Given the description of an element on the screen output the (x, y) to click on. 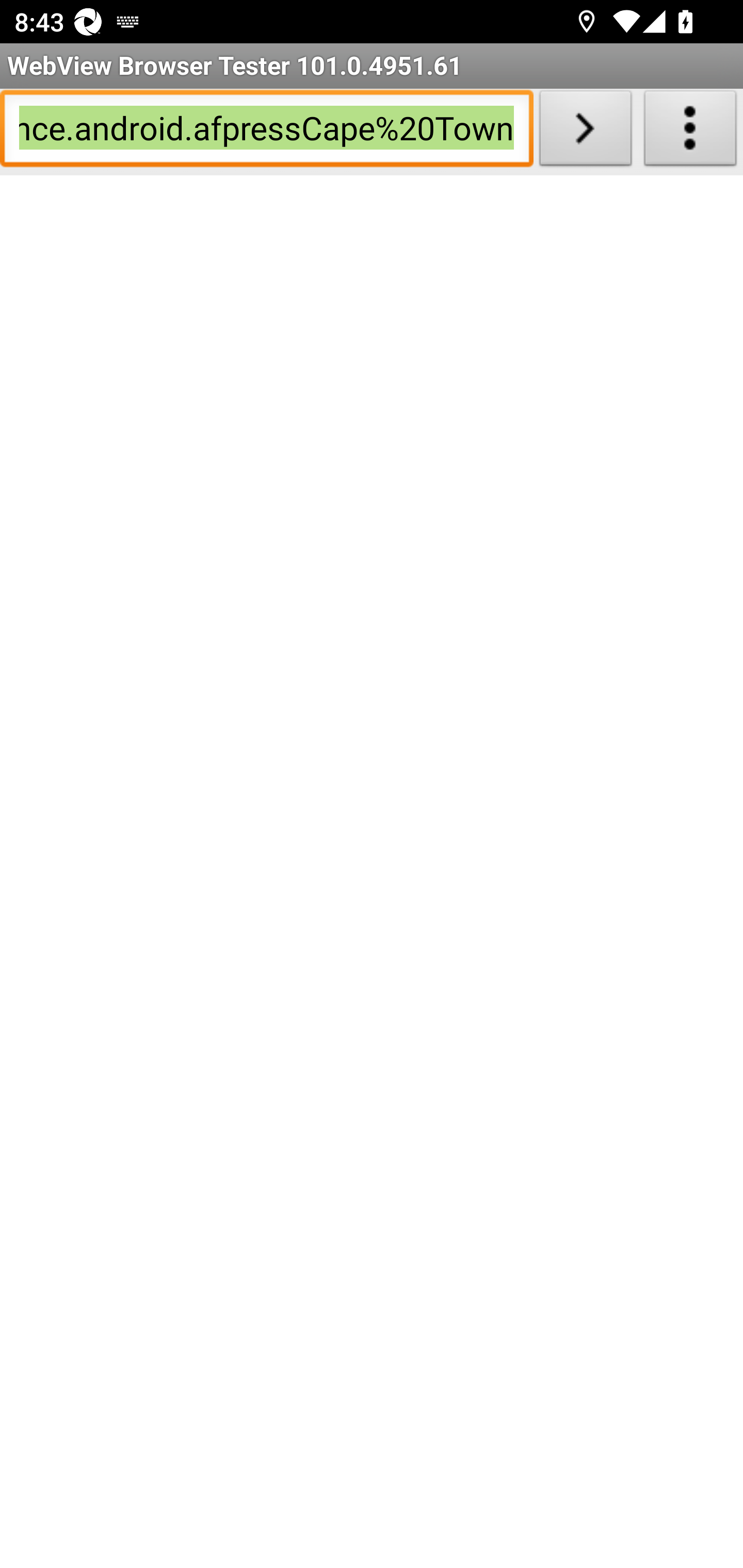
Load URL (585, 132)
About WebView (690, 132)
